Given the description of an element on the screen output the (x, y) to click on. 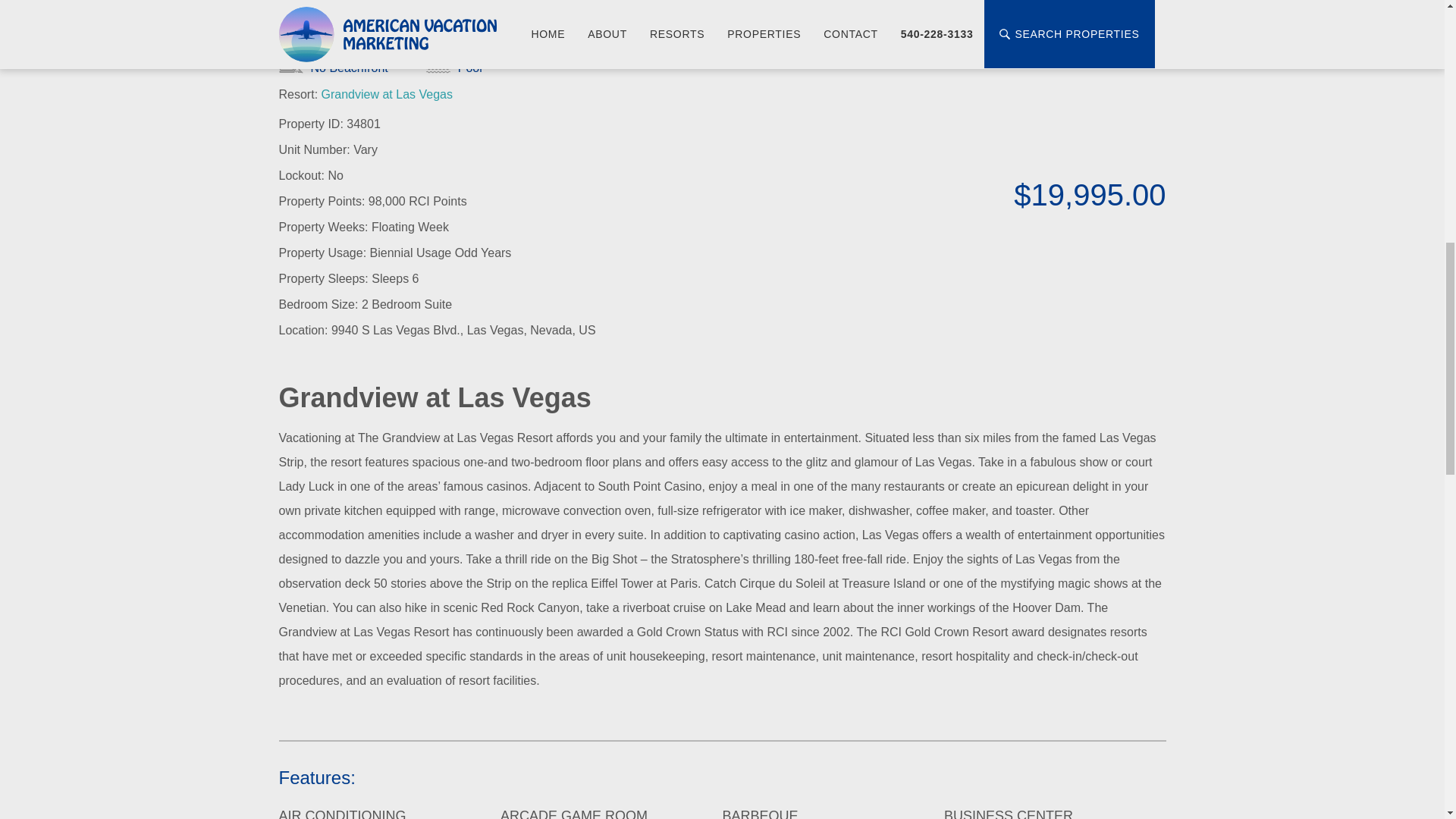
ARCADE GAME ROOM (573, 813)
AIR CONDITIONING (342, 813)
BARBEQUE (759, 813)
BUSINESS CENTER (1008, 813)
Grandview at Las Vegas (386, 93)
